Given the description of an element on the screen output the (x, y) to click on. 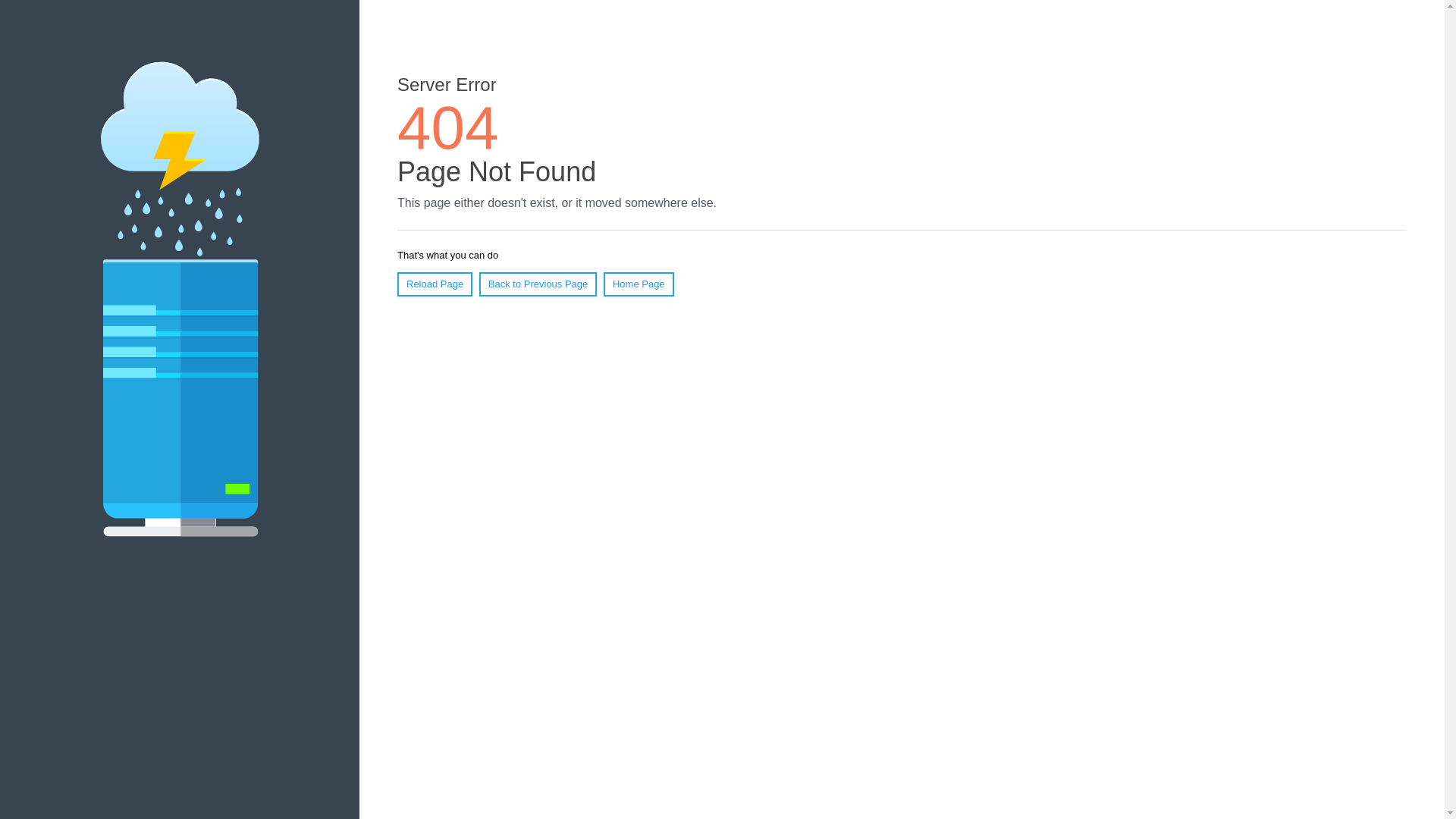
Home Page Element type: text (638, 284)
Reload Page Element type: text (434, 284)
Back to Previous Page Element type: text (538, 284)
